Given the description of an element on the screen output the (x, y) to click on. 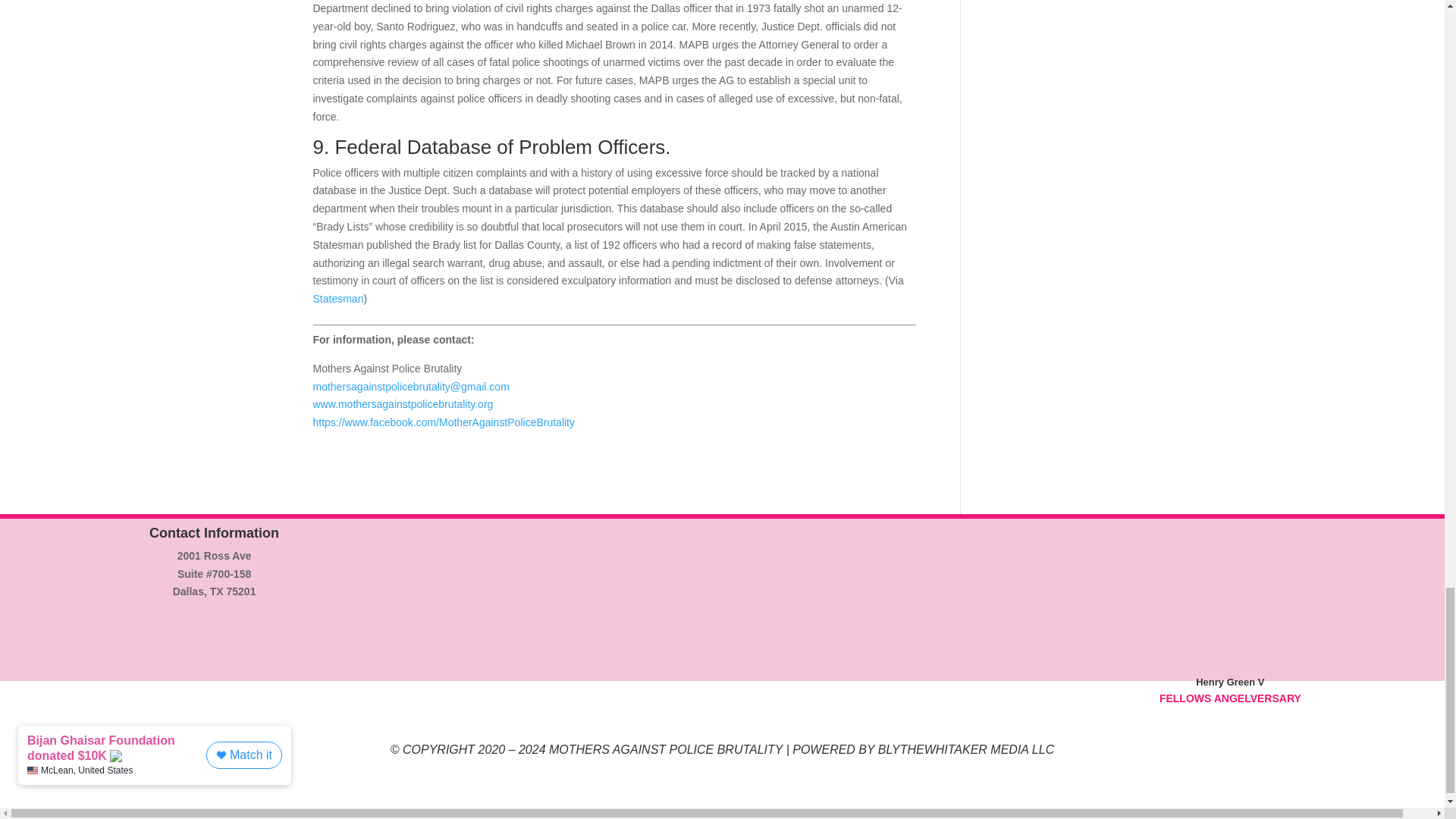
www.mothersagainstpolicebrutality.org (403, 404)
Statesman (337, 298)
